Given the description of an element on the screen output the (x, y) to click on. 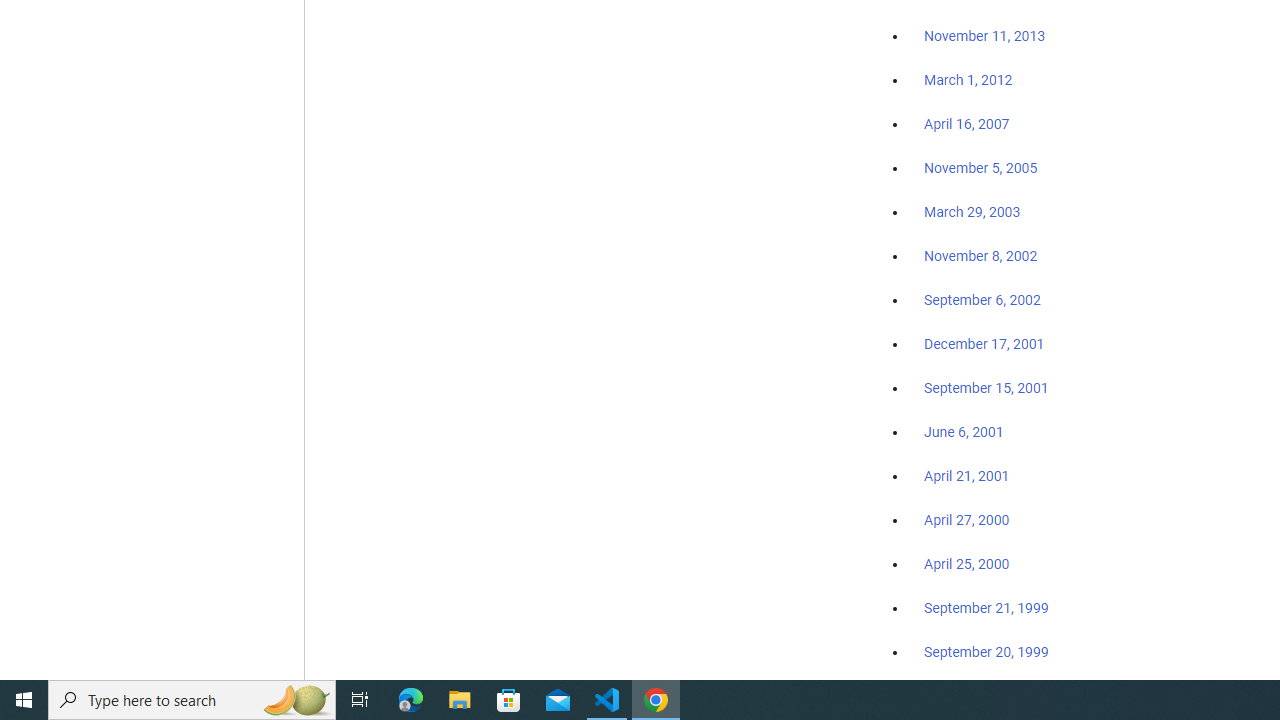
September 21, 1999 (986, 608)
April 25, 2000 (966, 564)
April 16, 2007 (966, 124)
December 17, 2001 (984, 343)
November 8, 2002 (981, 255)
April 21, 2001 (966, 476)
September 20, 1999 (986, 651)
September 15, 2001 (986, 387)
September 6, 2002 (982, 299)
November 11, 2013 (984, 37)
March 29, 2003 (972, 212)
November 5, 2005 (981, 168)
April 27, 2000 (966, 520)
June 6, 2001 (963, 431)
March 1, 2012 (968, 81)
